Given the description of an element on the screen output the (x, y) to click on. 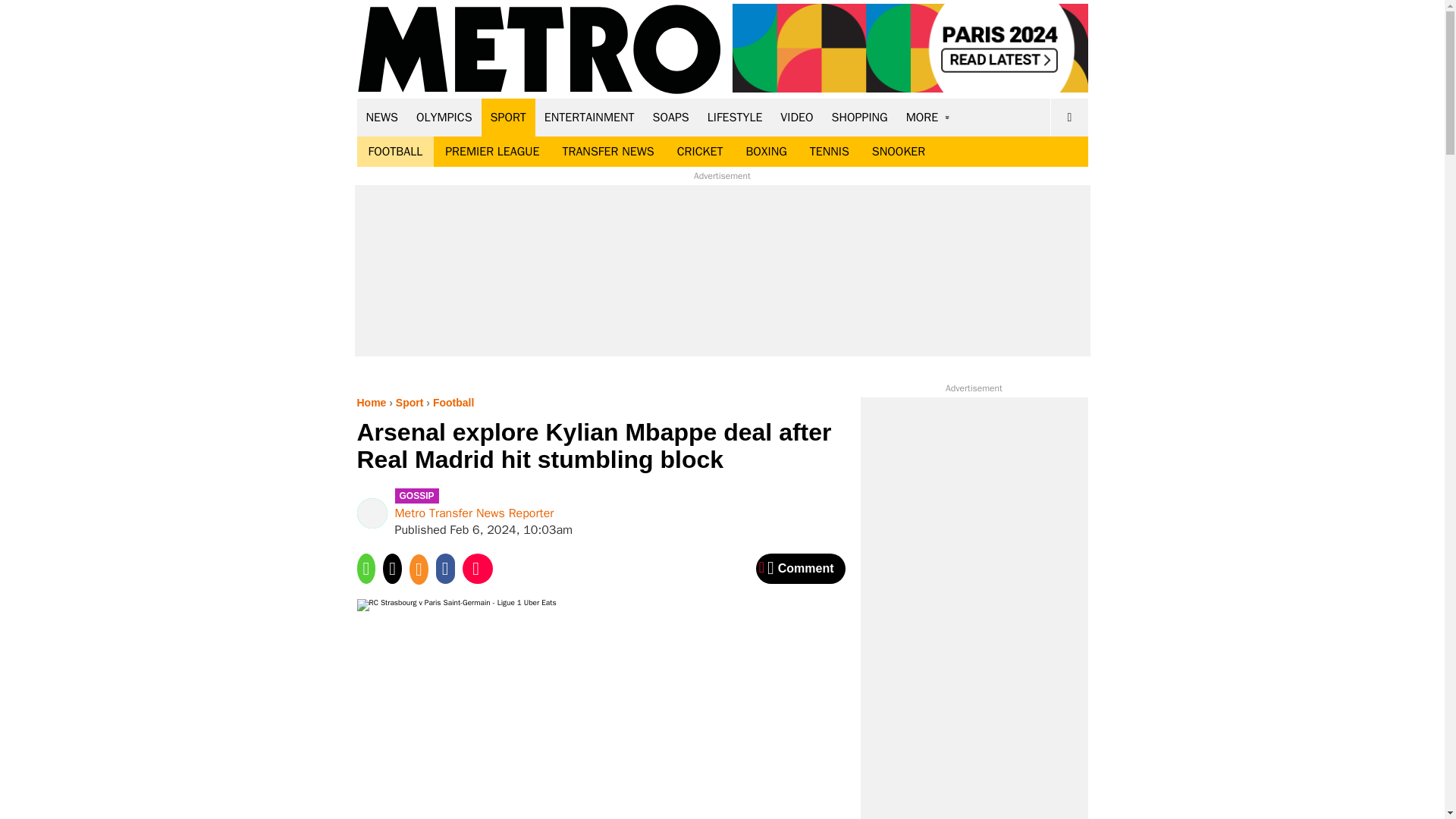
BOXING (765, 151)
ENTERTAINMENT (589, 117)
TENNIS (828, 151)
SNOOKER (898, 151)
LIFESTYLE (734, 117)
PREMIER LEAGUE (491, 151)
OLYMPICS (444, 117)
FOOTBALL (394, 151)
SOAPS (670, 117)
SPORT (508, 117)
CRICKET (700, 151)
TRANSFER NEWS (607, 151)
NEWS (381, 117)
Metro (539, 50)
